Given the description of an element on the screen output the (x, y) to click on. 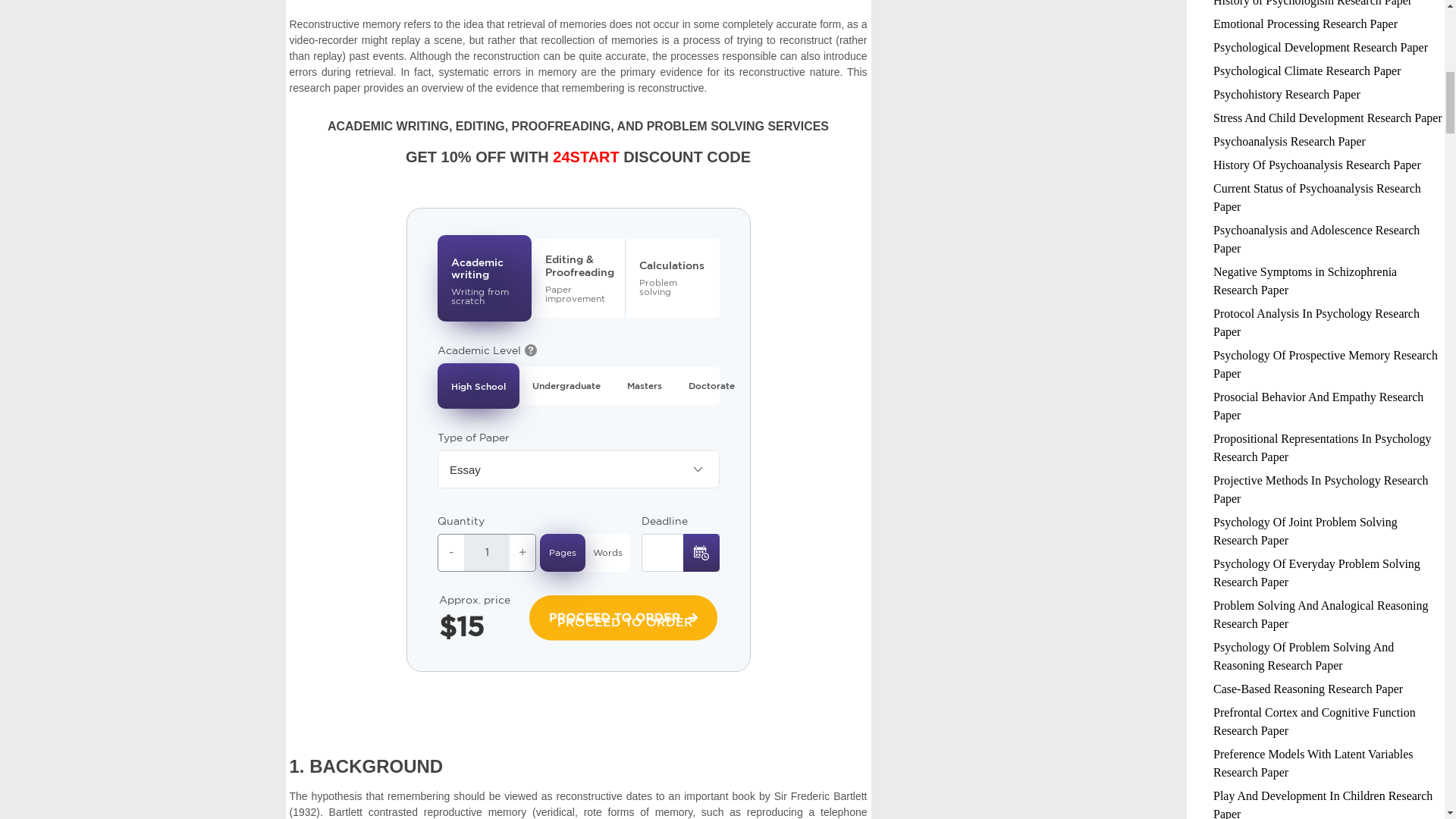
History of Psychologism Research Paper (1312, 3)
